Given the description of an element on the screen output the (x, y) to click on. 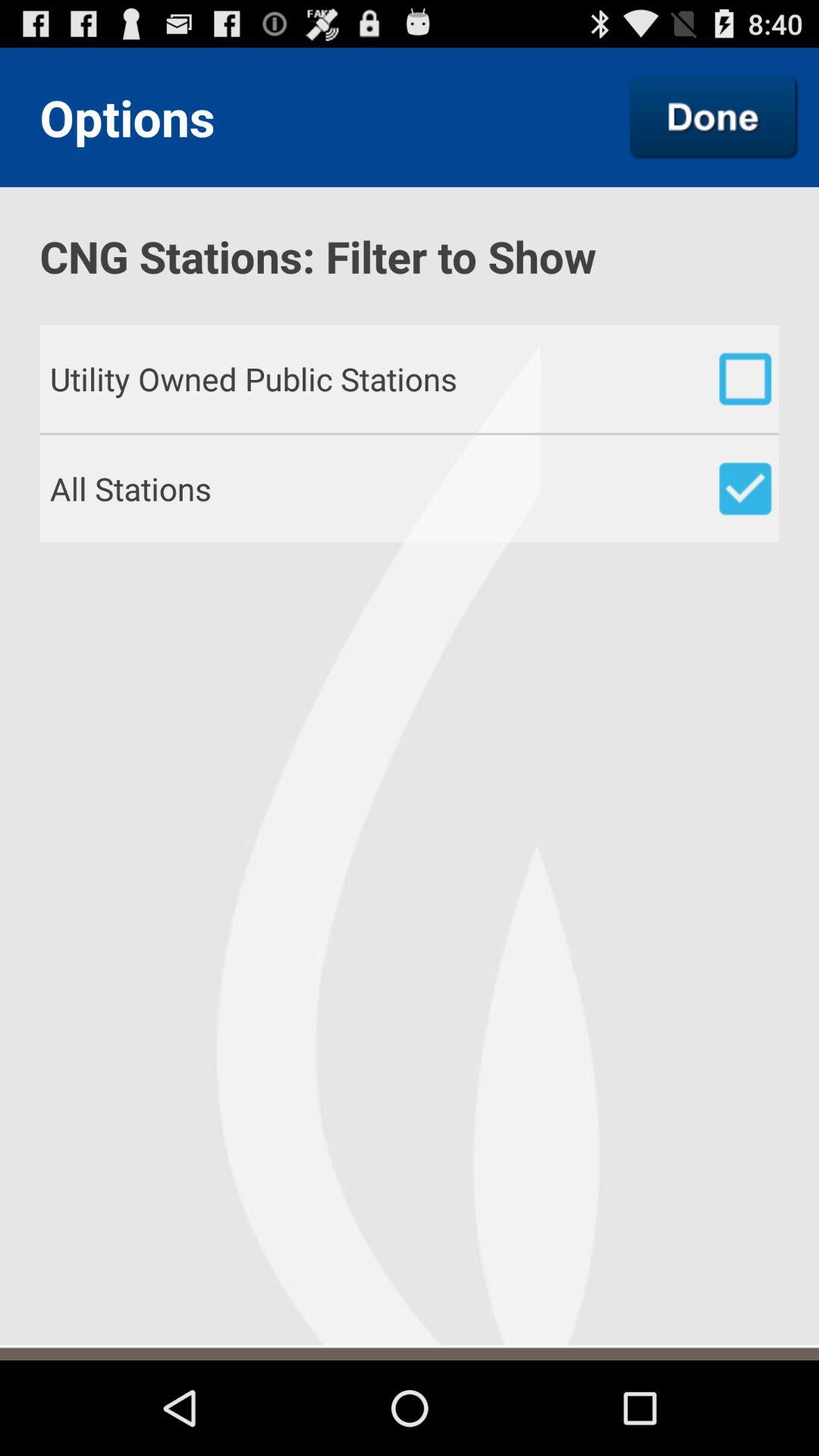
choose the utility owned public app (414, 378)
